Given the description of an element on the screen output the (x, y) to click on. 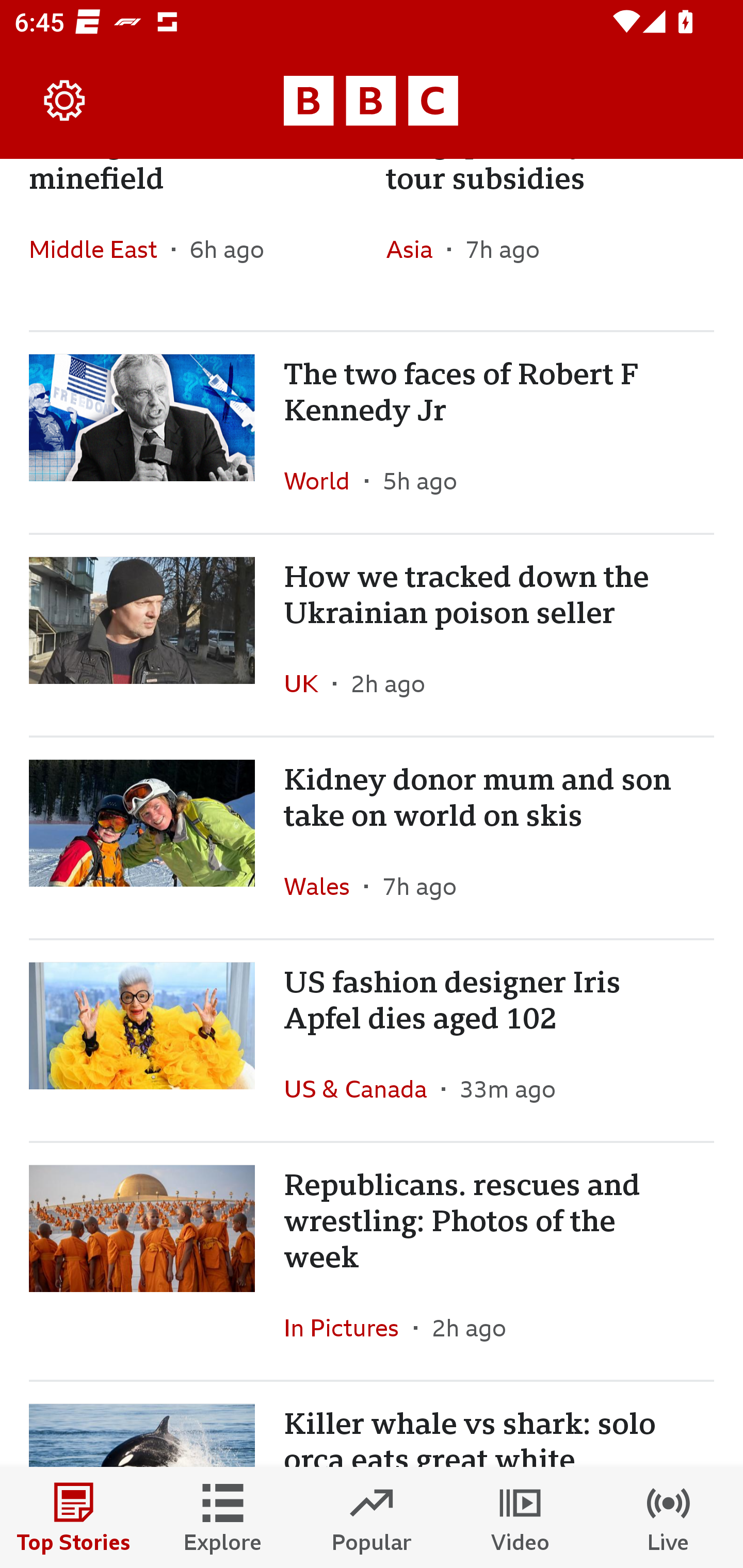
Settings (64, 100)
Middle East In the section Middle East (99, 249)
Asia In the section Asia (416, 249)
World In the section World (323, 480)
UK In the section UK (307, 683)
Wales In the section Wales (323, 885)
US & Canada In the section US & Canada (362, 1088)
In Pictures In the section In Pictures (348, 1326)
Explore (222, 1517)
Popular (371, 1517)
Video (519, 1517)
Live (668, 1517)
